Given the description of an element on the screen output the (x, y) to click on. 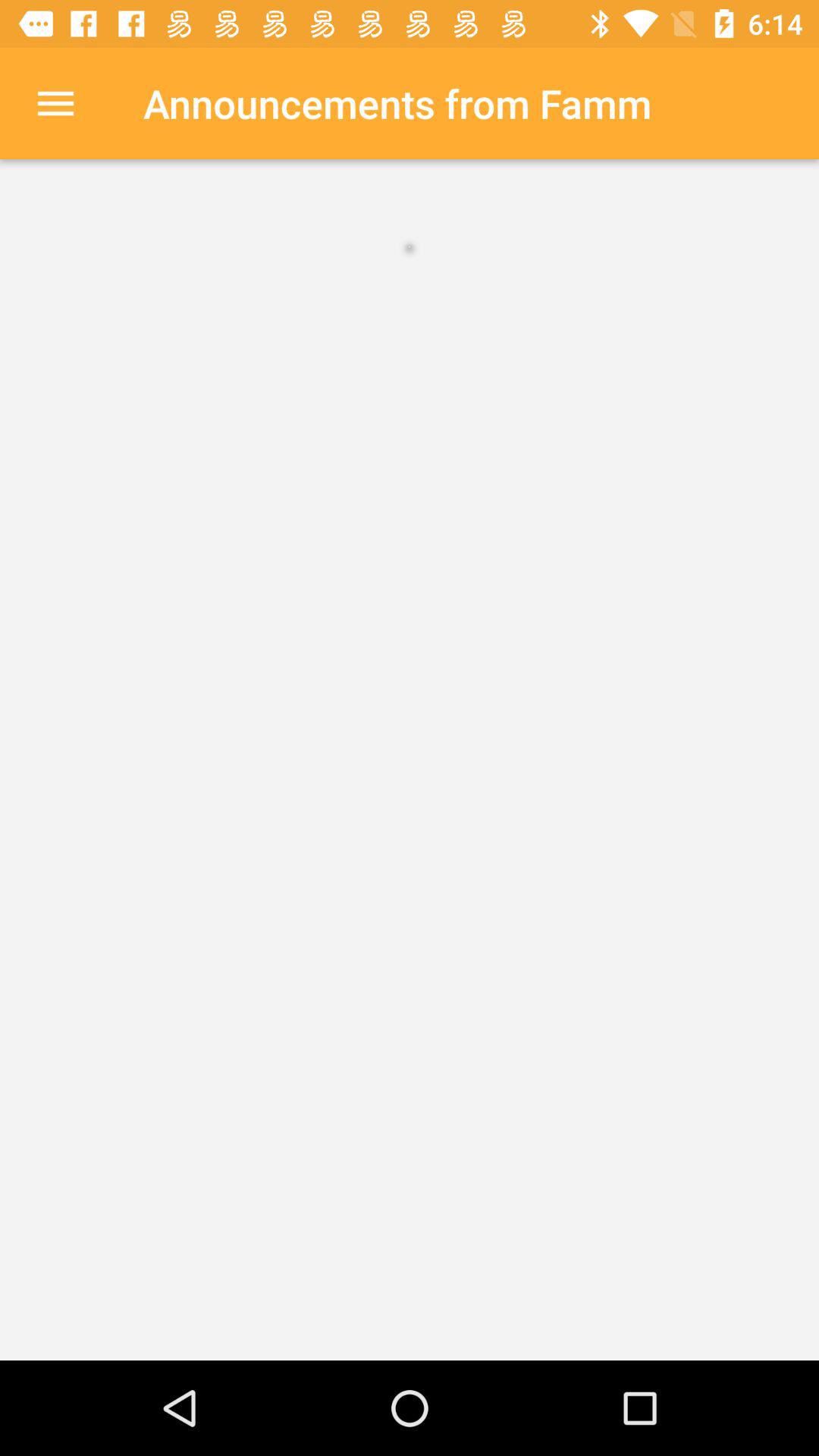
press item at the top left corner (55, 103)
